Given the description of an element on the screen output the (x, y) to click on. 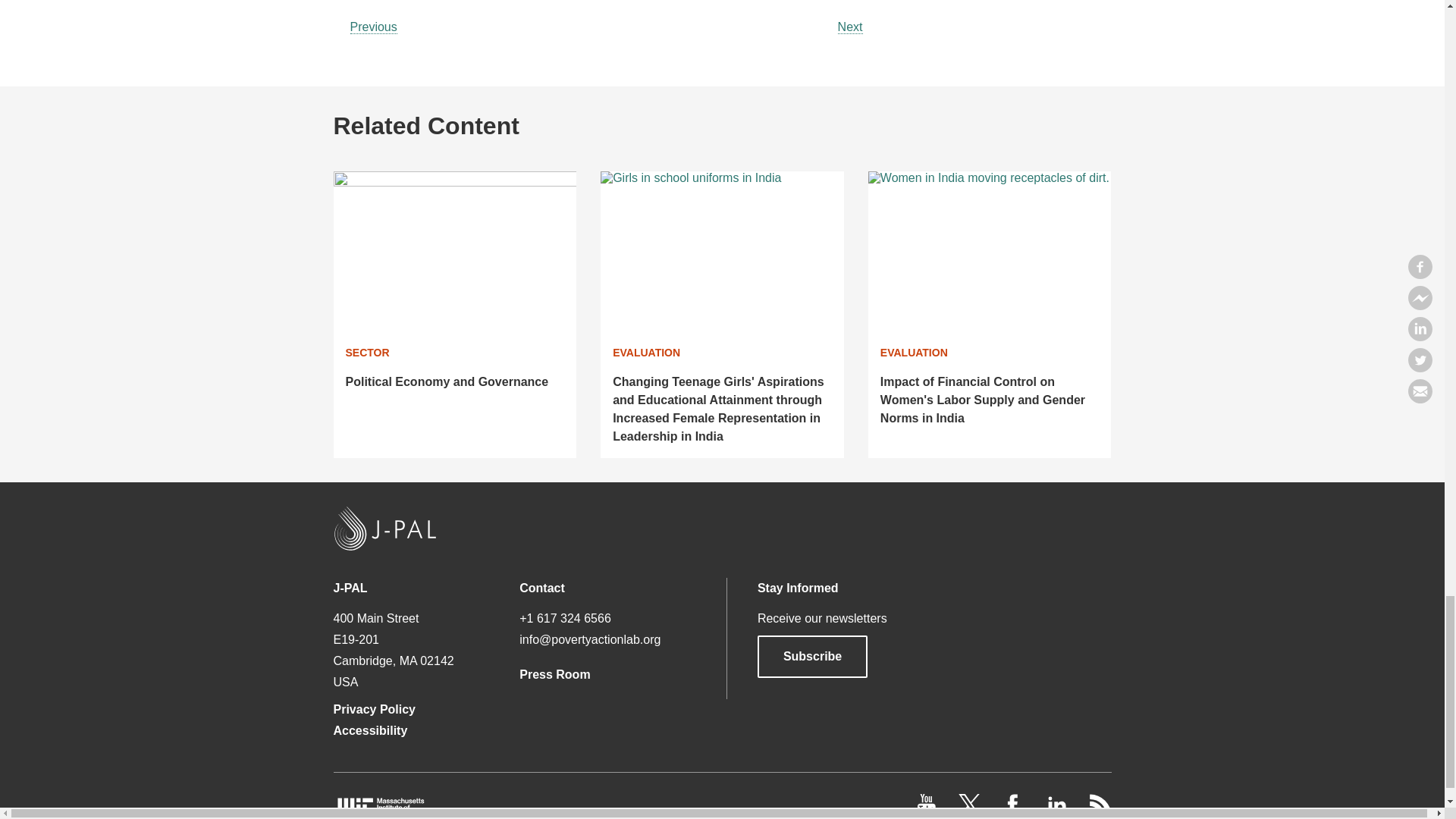
youtube (927, 811)
twitter (971, 811)
rss feed (1099, 811)
facebook (1015, 811)
LinkedIn (1057, 811)
